Given the description of an element on the screen output the (x, y) to click on. 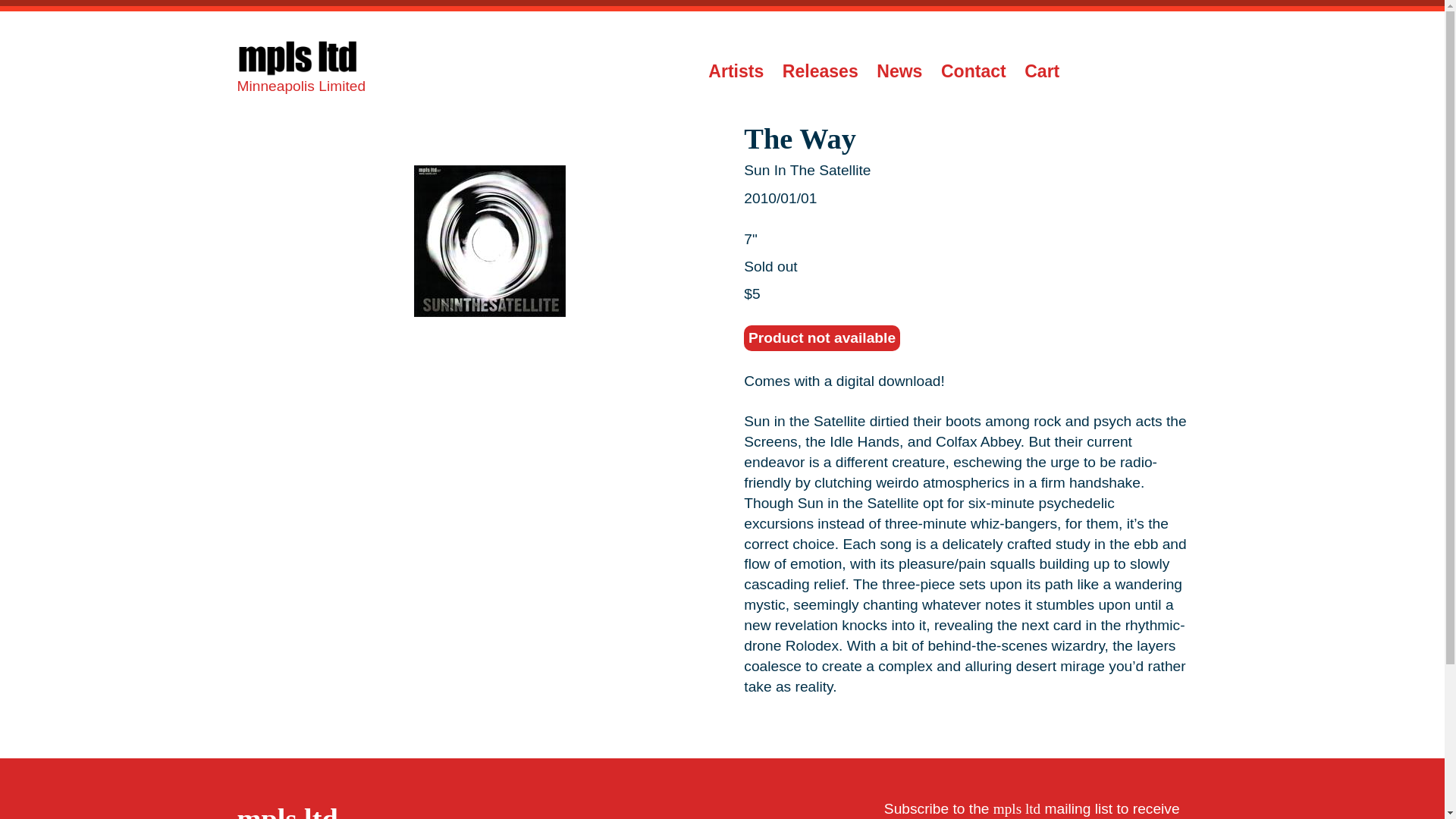
Product not available (821, 338)
Cart (1042, 70)
News (898, 70)
Product not available (821, 338)
Minneapolis Limited (301, 71)
Artists (734, 70)
Contact (973, 70)
Releases (821, 70)
